Given the description of an element on the screen output the (x, y) to click on. 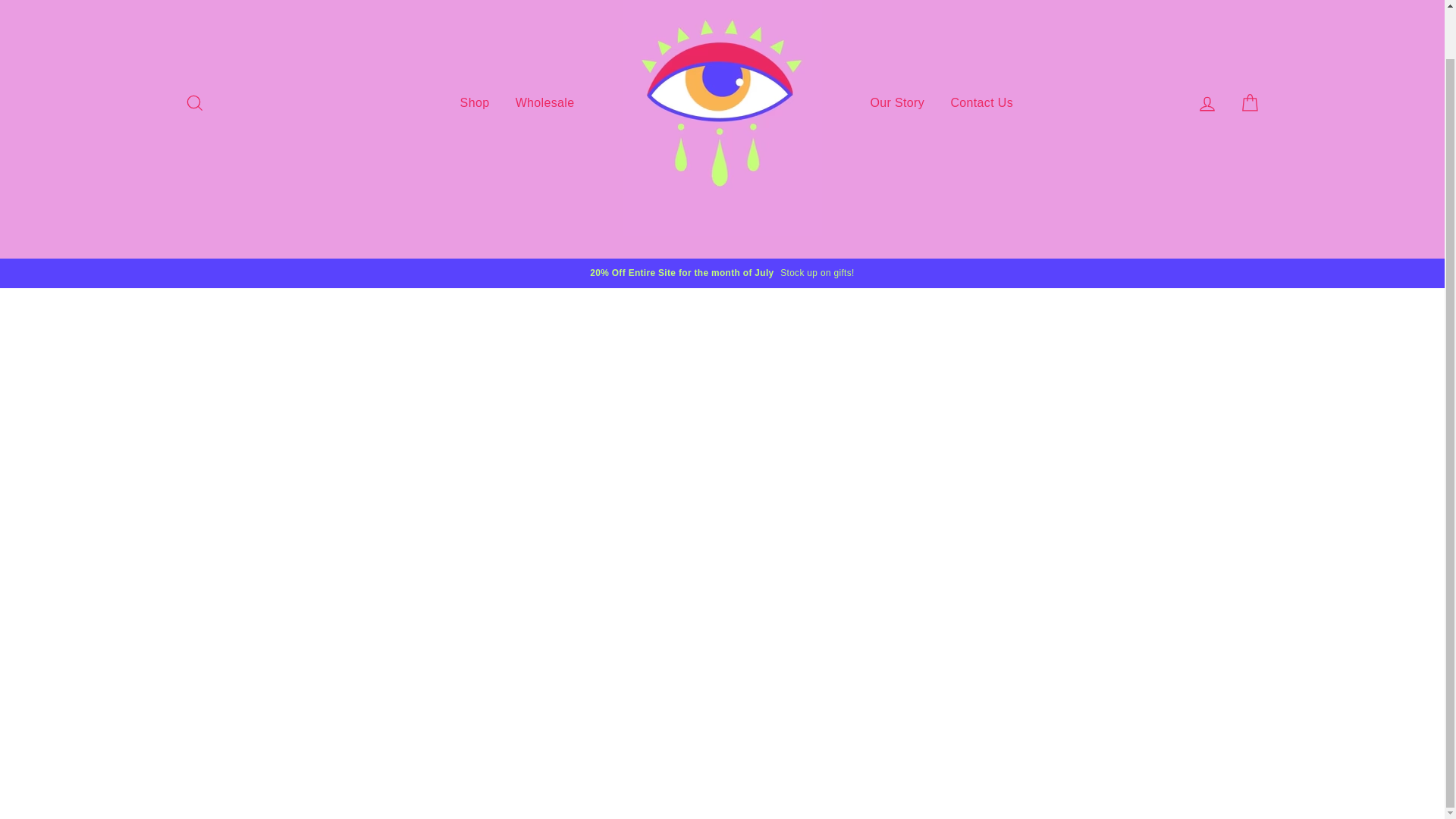
Wholesale (544, 102)
Shop (474, 102)
Our Story (897, 102)
Search (194, 102)
Contact Us (982, 102)
Log in (1207, 102)
Cart (1249, 102)
